Given the description of an element on the screen output the (x, y) to click on. 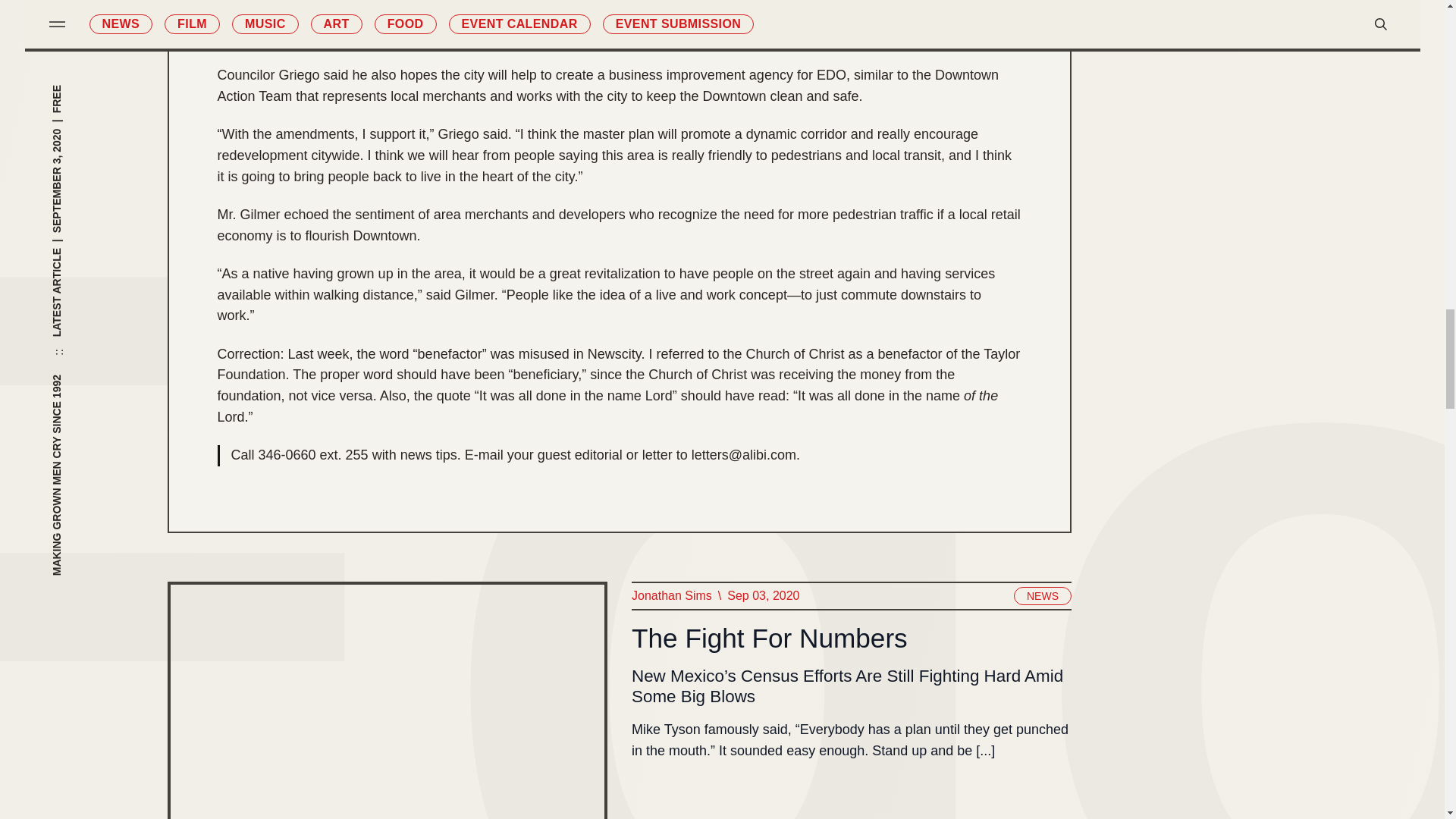
Jonathan Sims (670, 595)
NEWS (1041, 596)
